Given the description of an element on the screen output the (x, y) to click on. 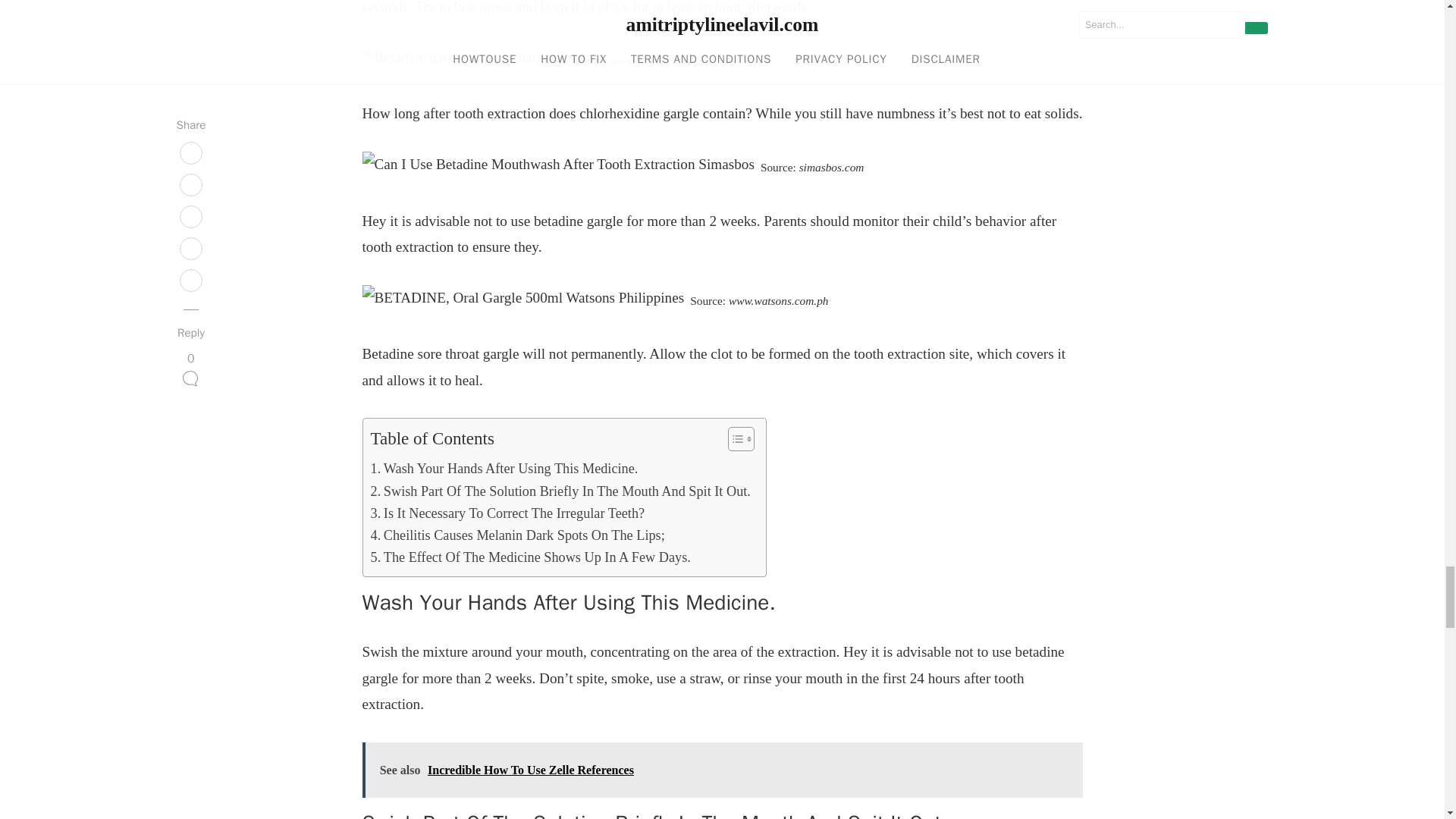
See also  Incredible How To Use Zelle References (722, 769)
Is It Necessary To Correct The Irregular Teeth? (507, 513)
Cheilitis Causes Melanin Dark Spots On The Lips; (516, 535)
Wash Your Hands After Using This Medicine. (503, 468)
Wash Your Hands After Using This Medicine. (503, 468)
Cheilitis Causes Melanin Dark Spots On The Lips; (516, 535)
Is It Necessary To Correct The Irregular Teeth? (507, 513)
The Effect Of The Medicine Shows Up In A Few Days. (529, 557)
The Effect Of The Medicine Shows Up In A Few Days. (529, 557)
